Given the description of an element on the screen output the (x, y) to click on. 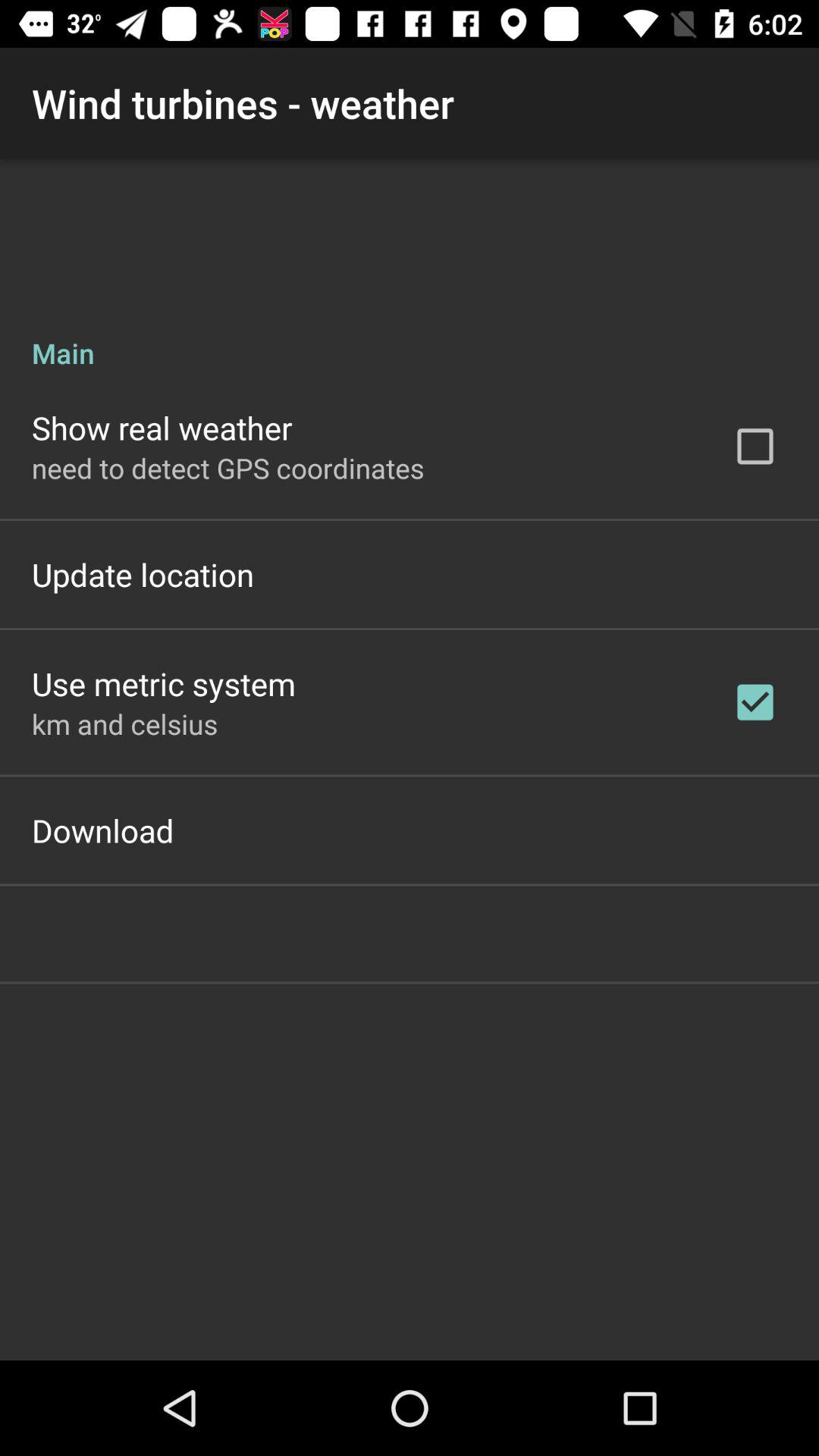
swipe until the download item (102, 829)
